Given the description of an element on the screen output the (x, y) to click on. 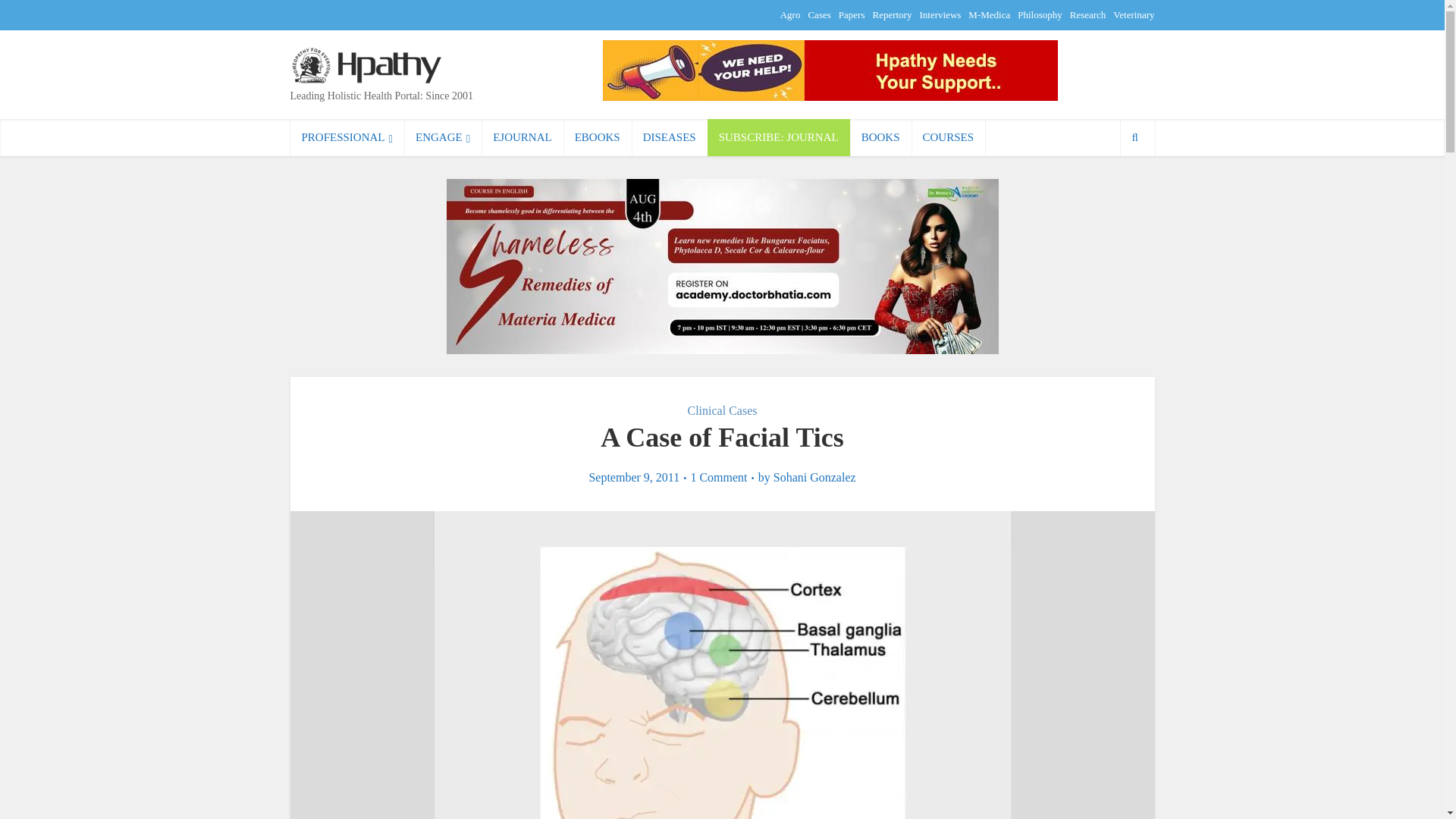
SUBSCRIBE: JOURNAL (778, 137)
ENGAGE (442, 137)
Philosophy (1039, 14)
EJOURNAL (522, 137)
Research (1088, 14)
DISEASES (669, 137)
M-Medica (989, 14)
Agro (790, 14)
BOOKS (880, 137)
Interviews (939, 14)
Repertory (891, 14)
Cases (818, 14)
COURSES (948, 137)
EBOOKS (597, 137)
Veterinary (1133, 14)
